Given the description of an element on the screen output the (x, y) to click on. 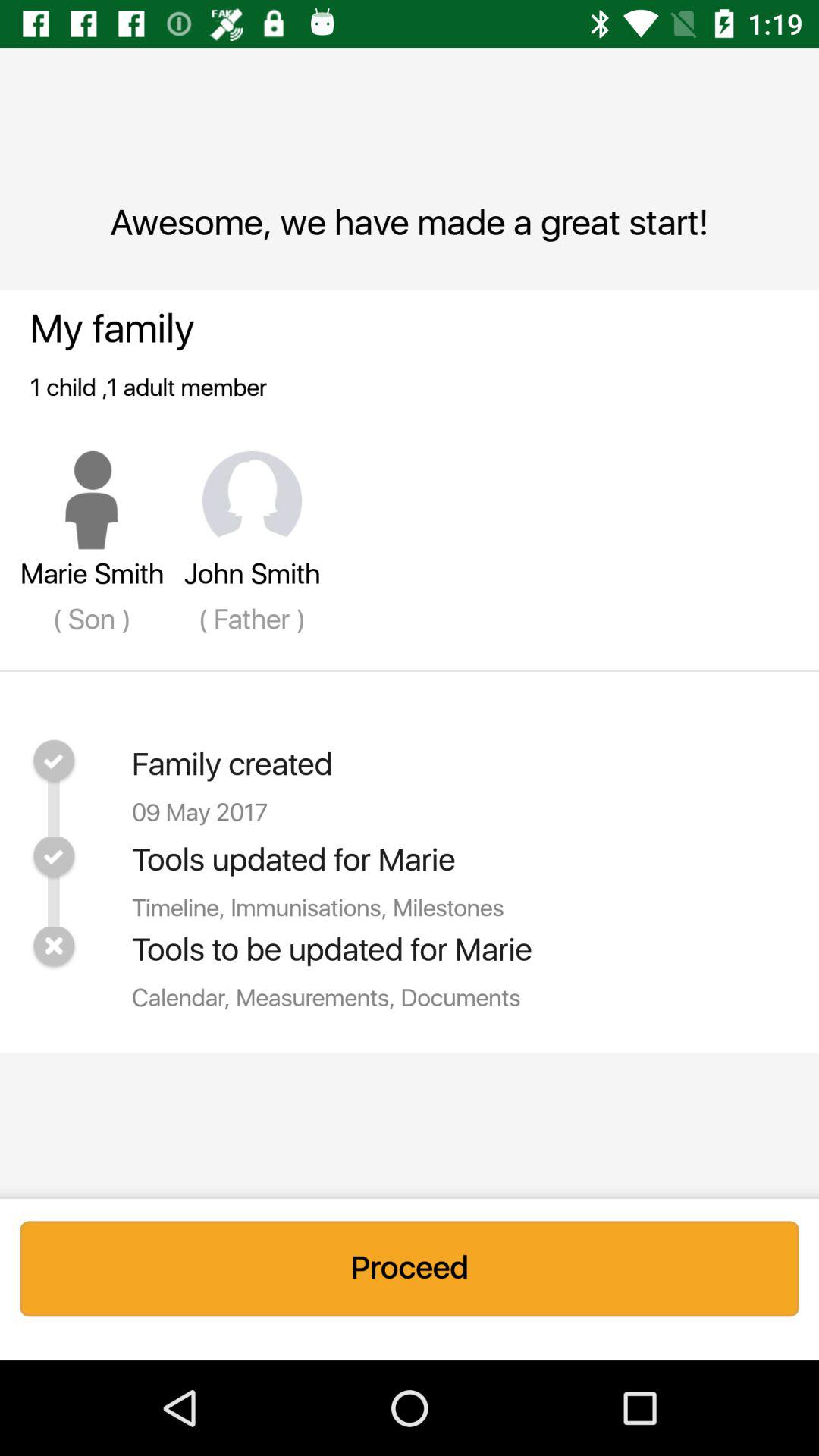
select male profile picture icon which is below 1 child1 adult member on the page (91, 500)
